Given the description of an element on the screen output the (x, y) to click on. 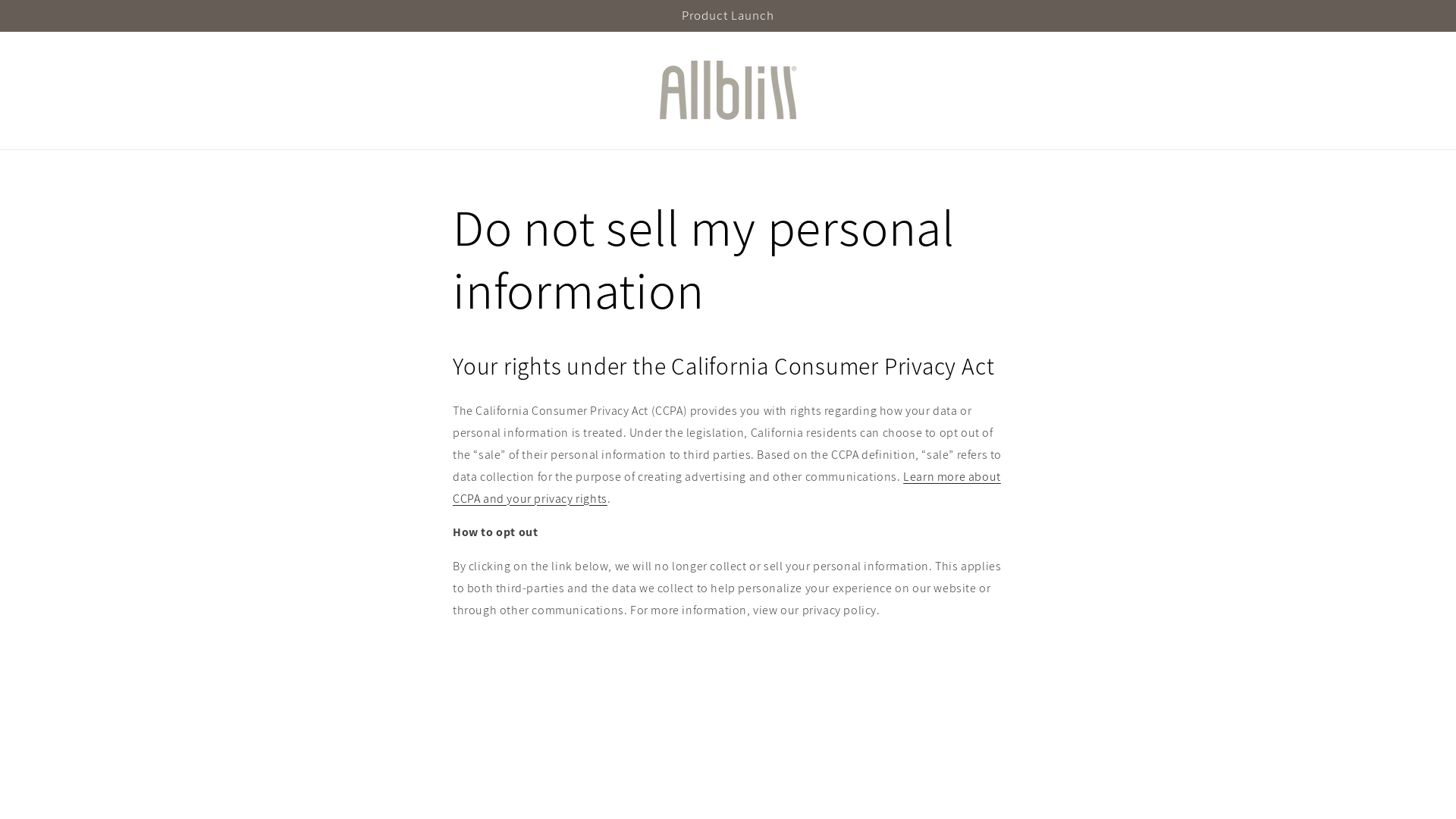
Learn more about CCPA and your privacy rights Element type: text (726, 487)
